Given the description of an element on the screen output the (x, y) to click on. 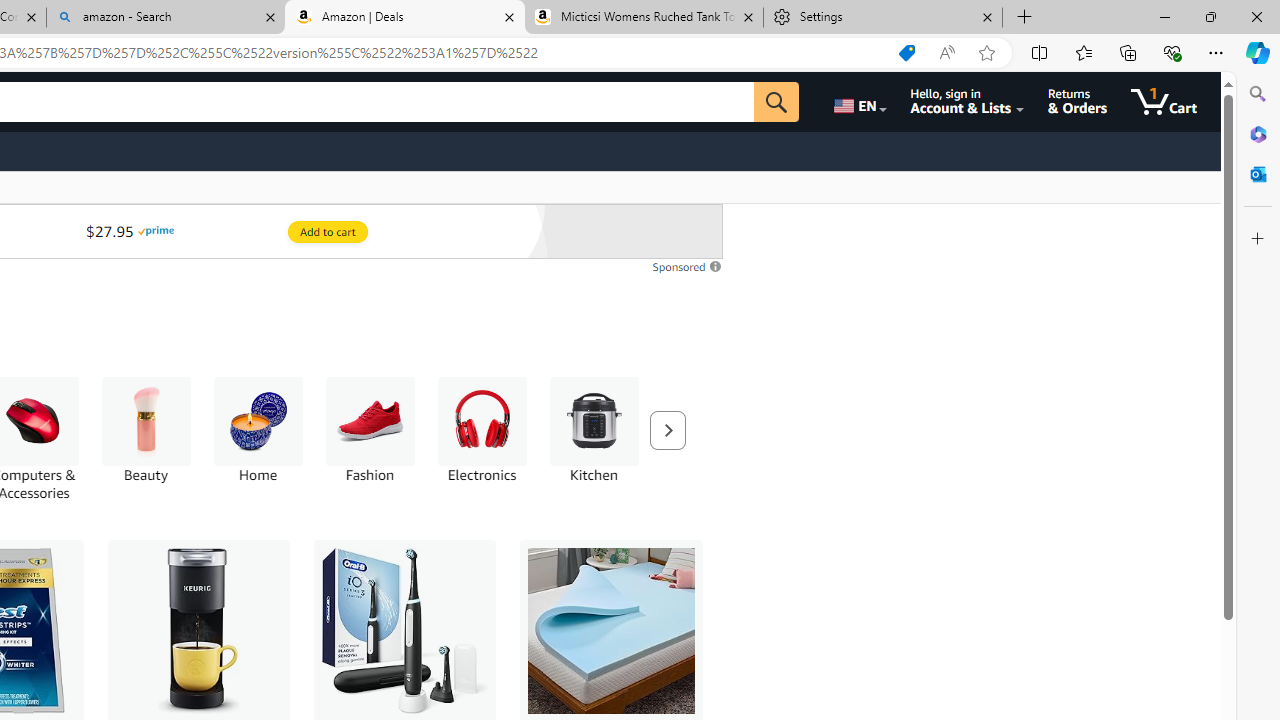
Next (667, 429)
Kitchen Kitchen (593, 430)
Add to cart (327, 231)
Fashion (369, 421)
Kitchen (593, 439)
Shopping in Microsoft Edge (906, 53)
Electronics Electronics (481, 430)
Returns & Orders (1077, 101)
